Given the description of an element on the screen output the (x, y) to click on. 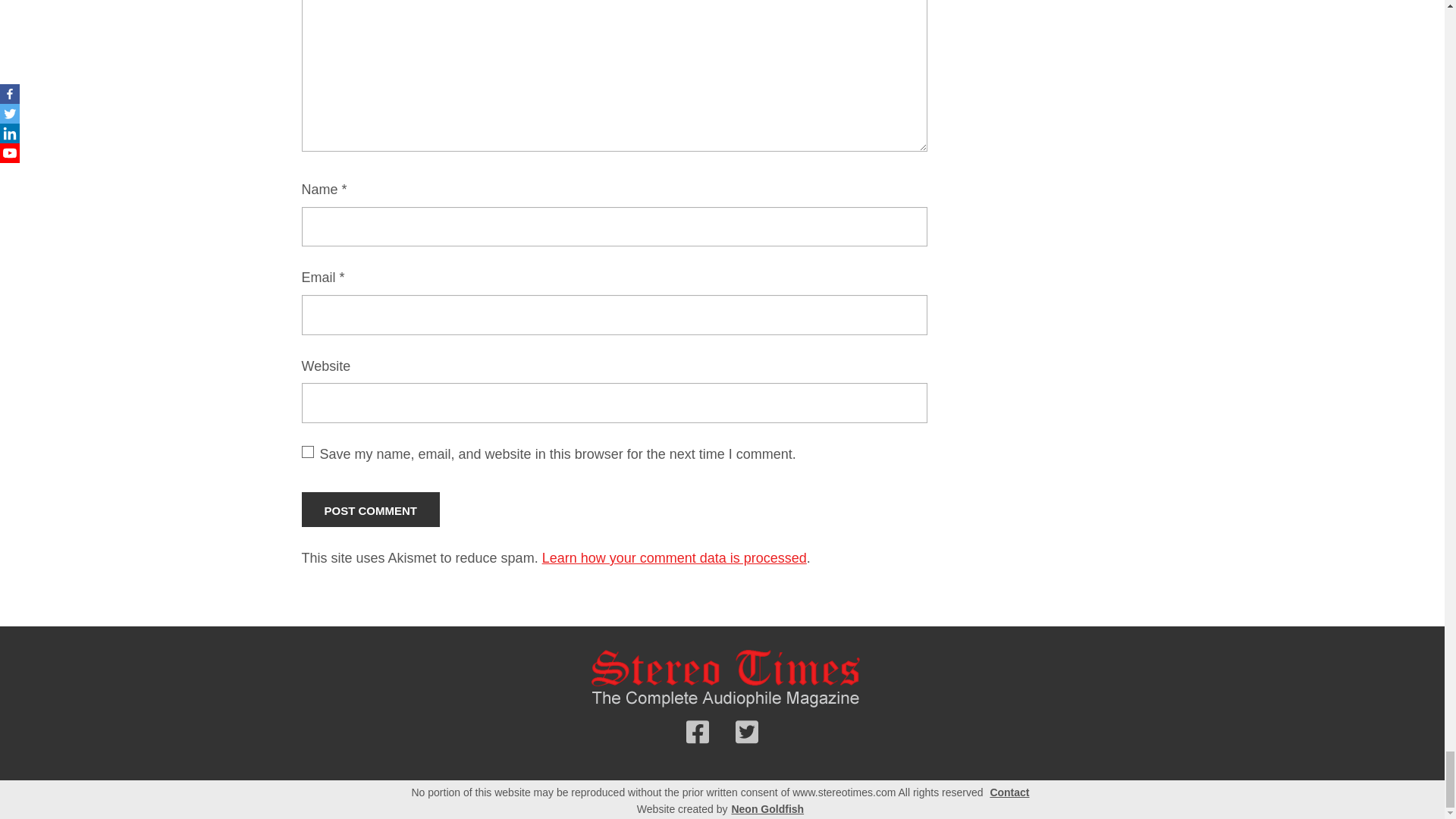
Learn how your comment data is processed (673, 557)
Post Comment (371, 509)
Post Comment (371, 509)
